Given the description of an element on the screen output the (x, y) to click on. 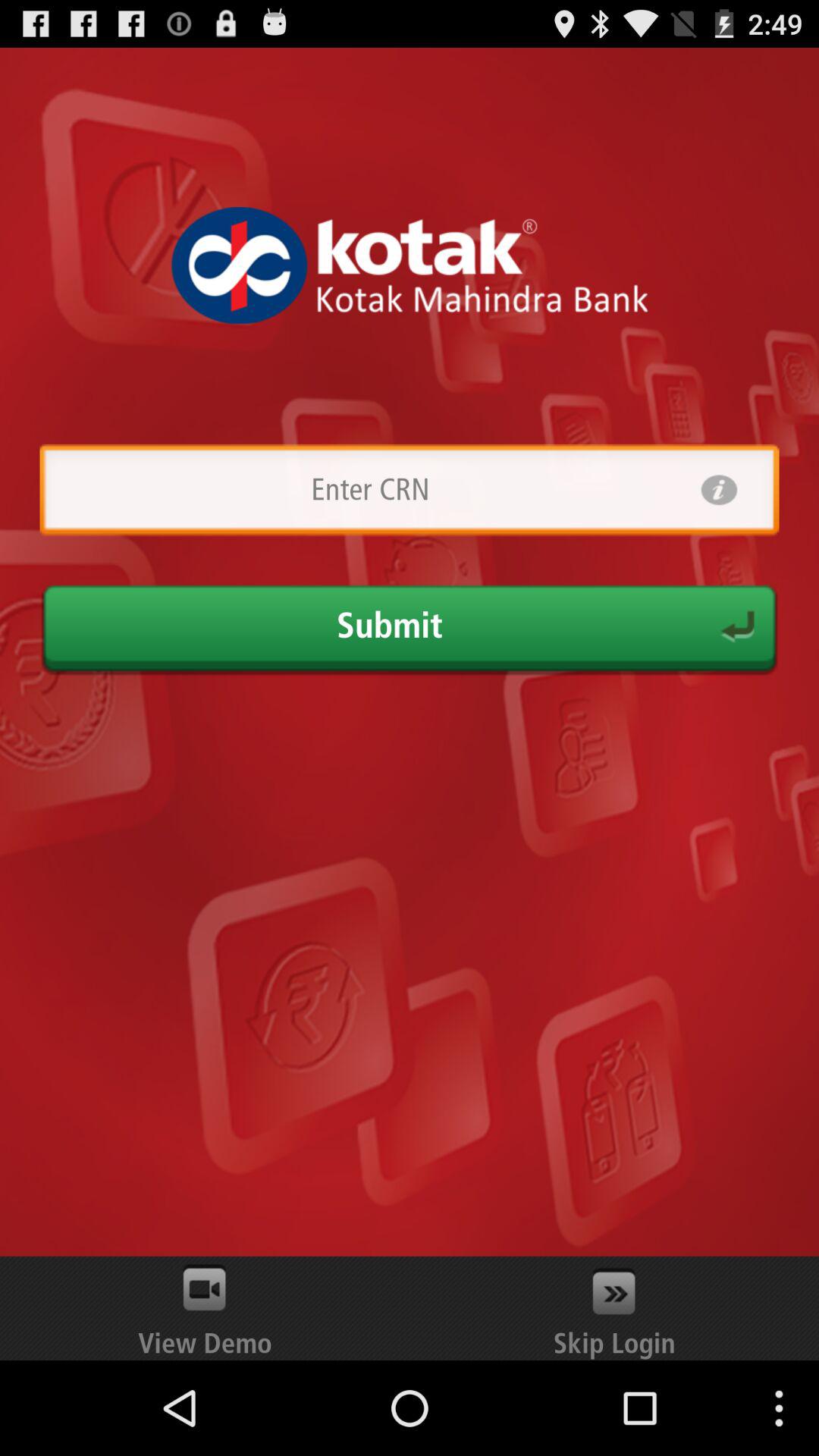
enter country (370, 489)
